Given the description of an element on the screen output the (x, y) to click on. 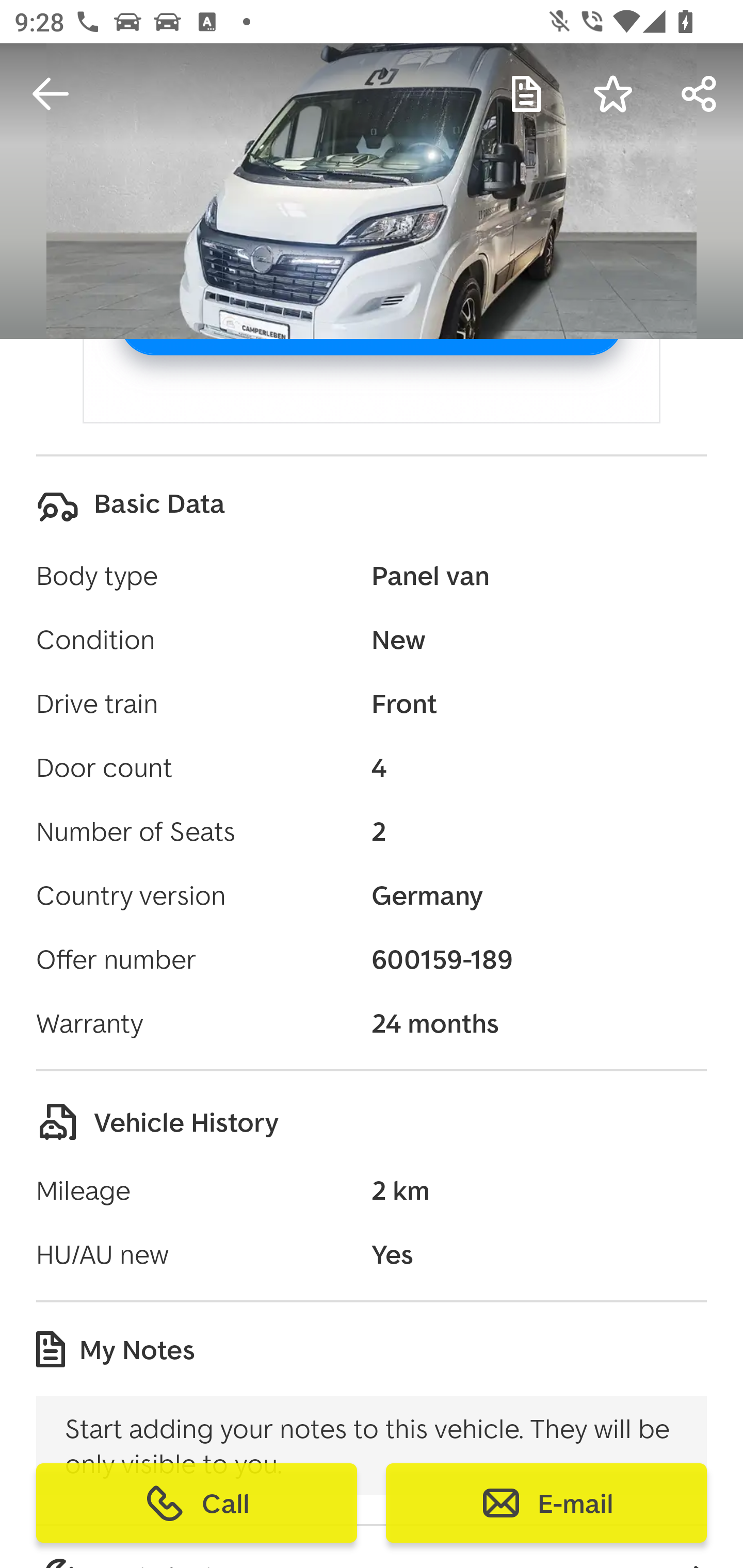
Navigate up (50, 93)
My Notes (525, 93)
Save (612, 93)
Forward (699, 93)
Call (196, 1502)
E-mail (545, 1502)
